Given the description of an element on the screen output the (x, y) to click on. 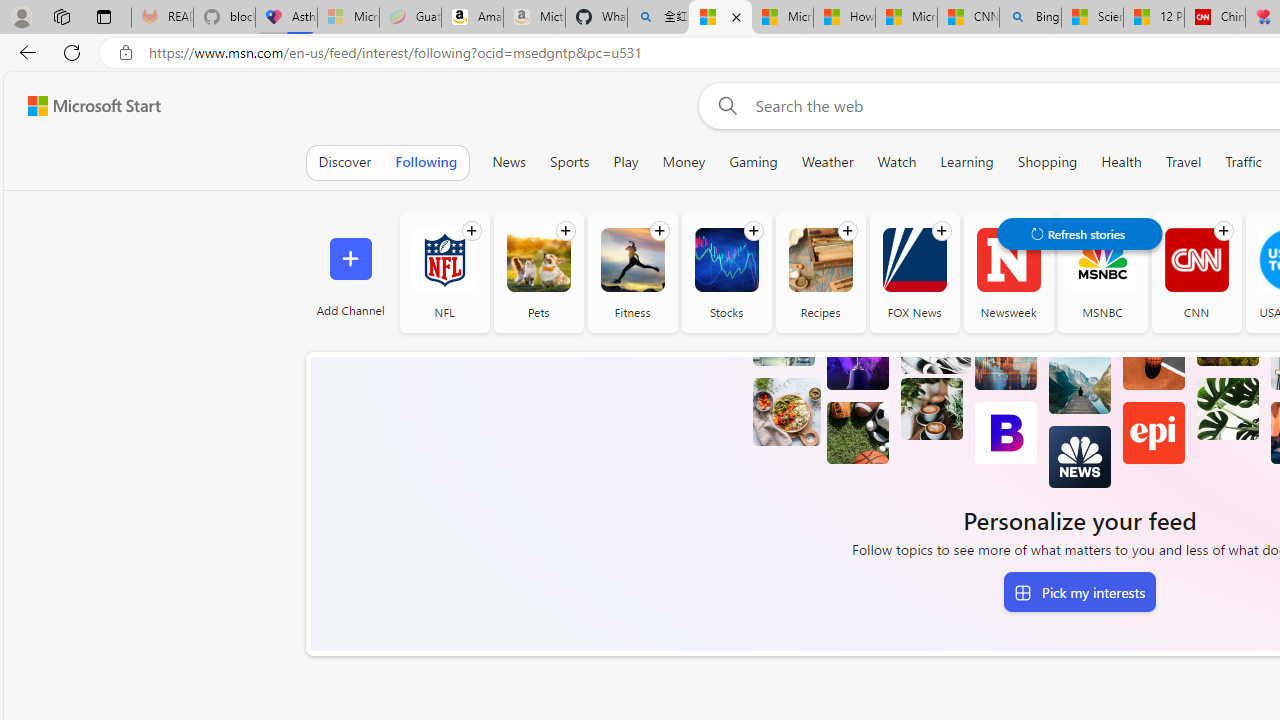
Sports (569, 162)
Microsoft-Report a Concern to Bing - Sleeping (347, 17)
Fitness (632, 272)
Asthma Inhalers: Names and Types (286, 17)
Gaming (753, 161)
Play (626, 162)
Traffic (1243, 161)
Bing (1030, 17)
Add Channel (349, 272)
Watch (897, 161)
Sports (569, 161)
Gaming (752, 162)
Money (683, 161)
